Given the description of an element on the screen output the (x, y) to click on. 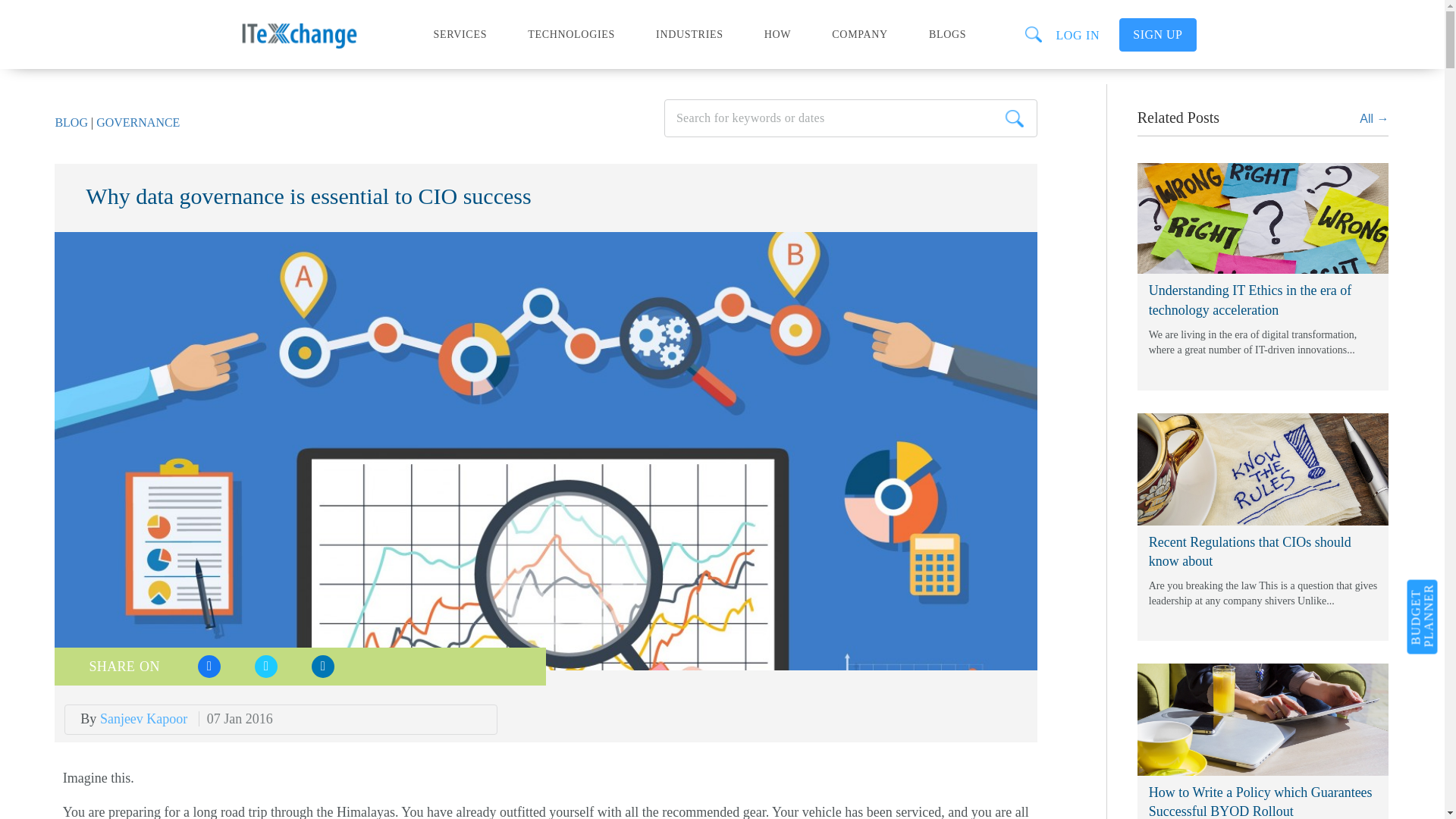
BLOG (71, 122)
LOG IN (1072, 29)
Sanjeev Kapoor (145, 718)
HOW (778, 28)
TECHNOLOGIES (571, 28)
INDUSTRIES (689, 28)
